Given the description of an element on the screen output the (x, y) to click on. 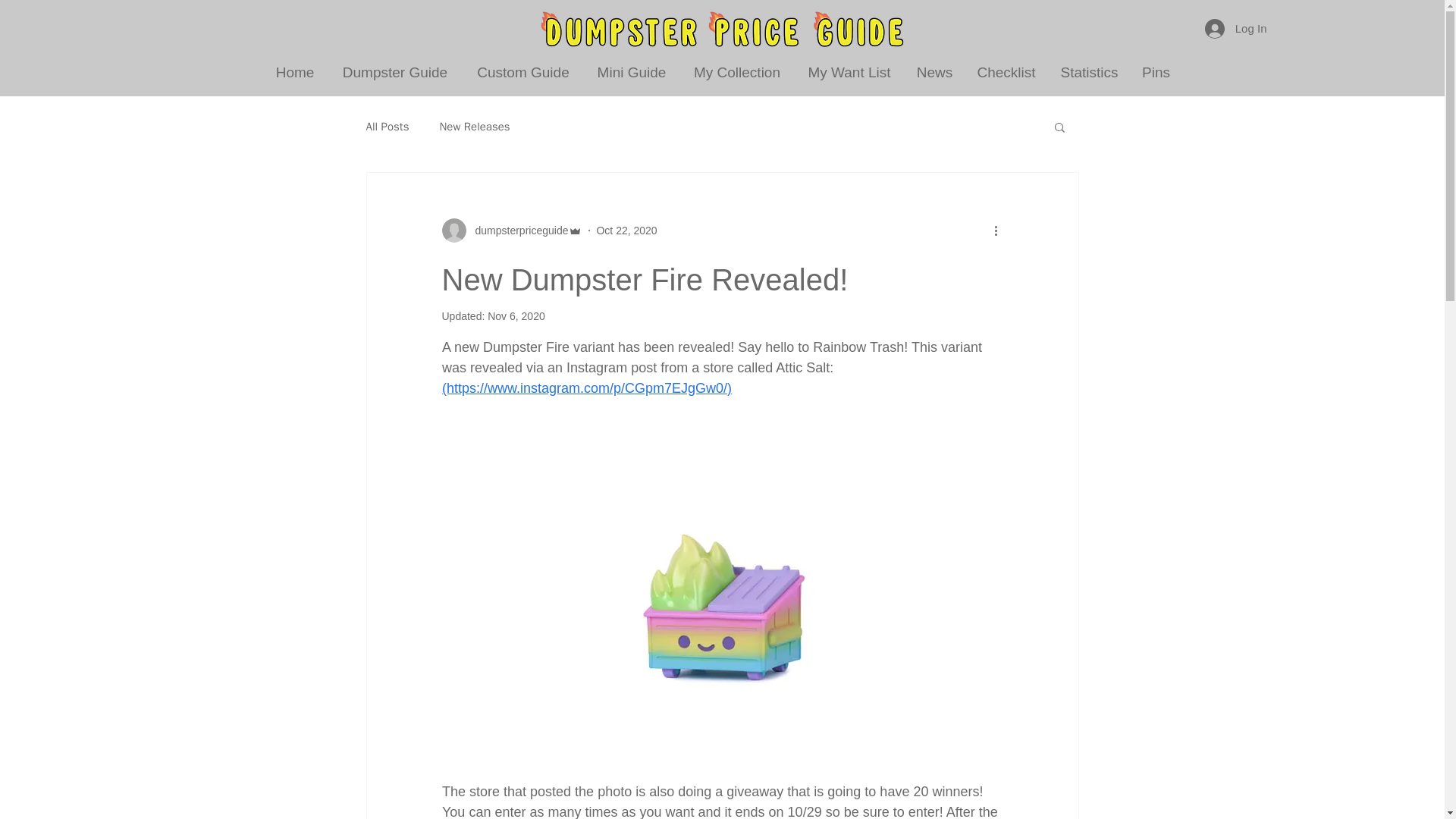
Statistics (1089, 71)
Log In (1235, 27)
My Want List (848, 71)
dumpsterpriceguide (516, 230)
Checklist (1005, 71)
dumpsterpriceguide (511, 230)
Custom Guide (523, 71)
Oct 22, 2020 (625, 230)
Pins (1155, 71)
All Posts (387, 126)
